Given the description of an element on the screen output the (x, y) to click on. 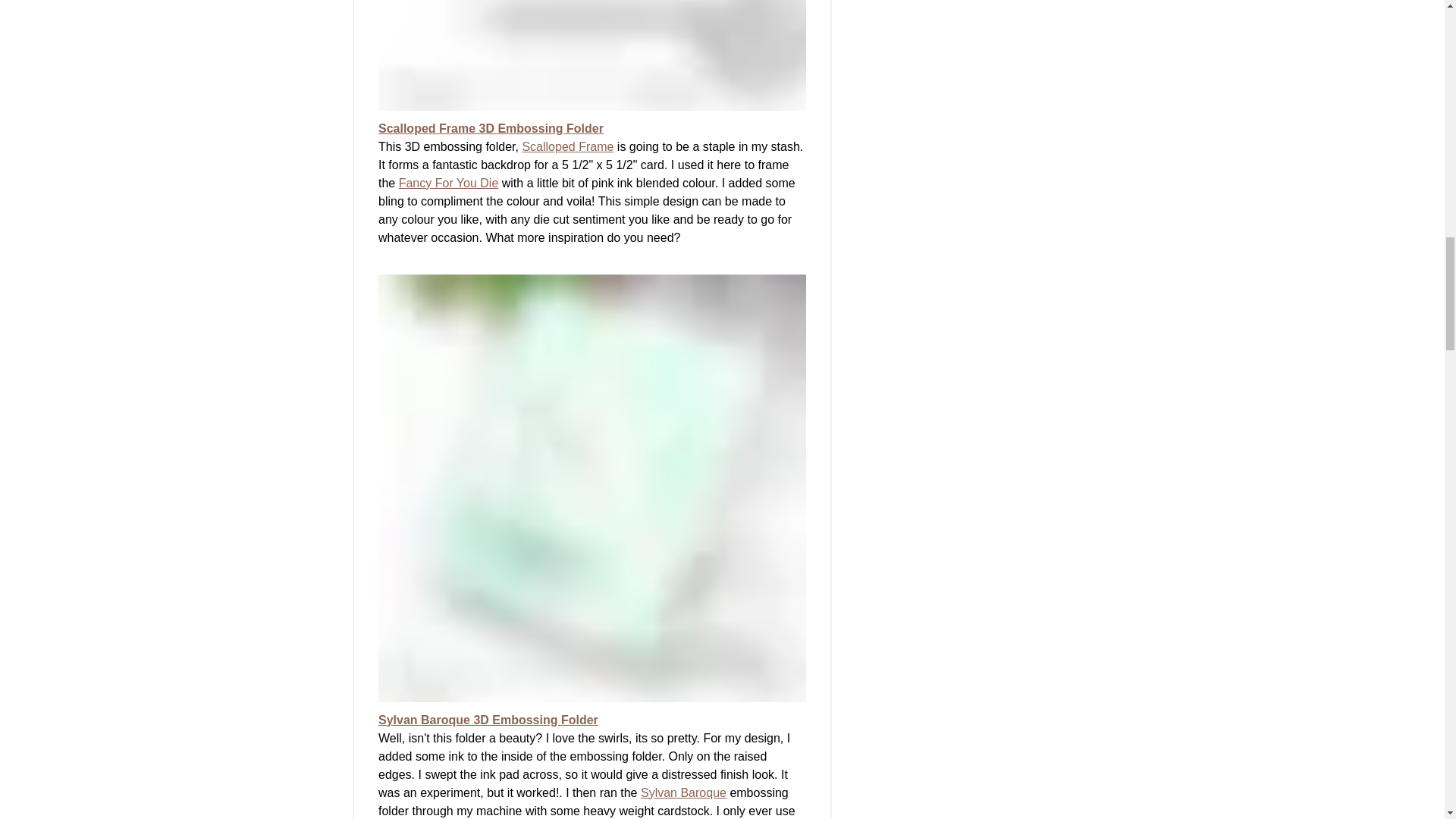
Scalloped Frame 3D Embossing Folder (489, 127)
Sylvan Baroque 3D Embossing Folder (486, 718)
Scalloped Frame (566, 145)
Sylvan Baroque (682, 791)
Fancy For You Die (447, 182)
